Given the description of an element on the screen output the (x, y) to click on. 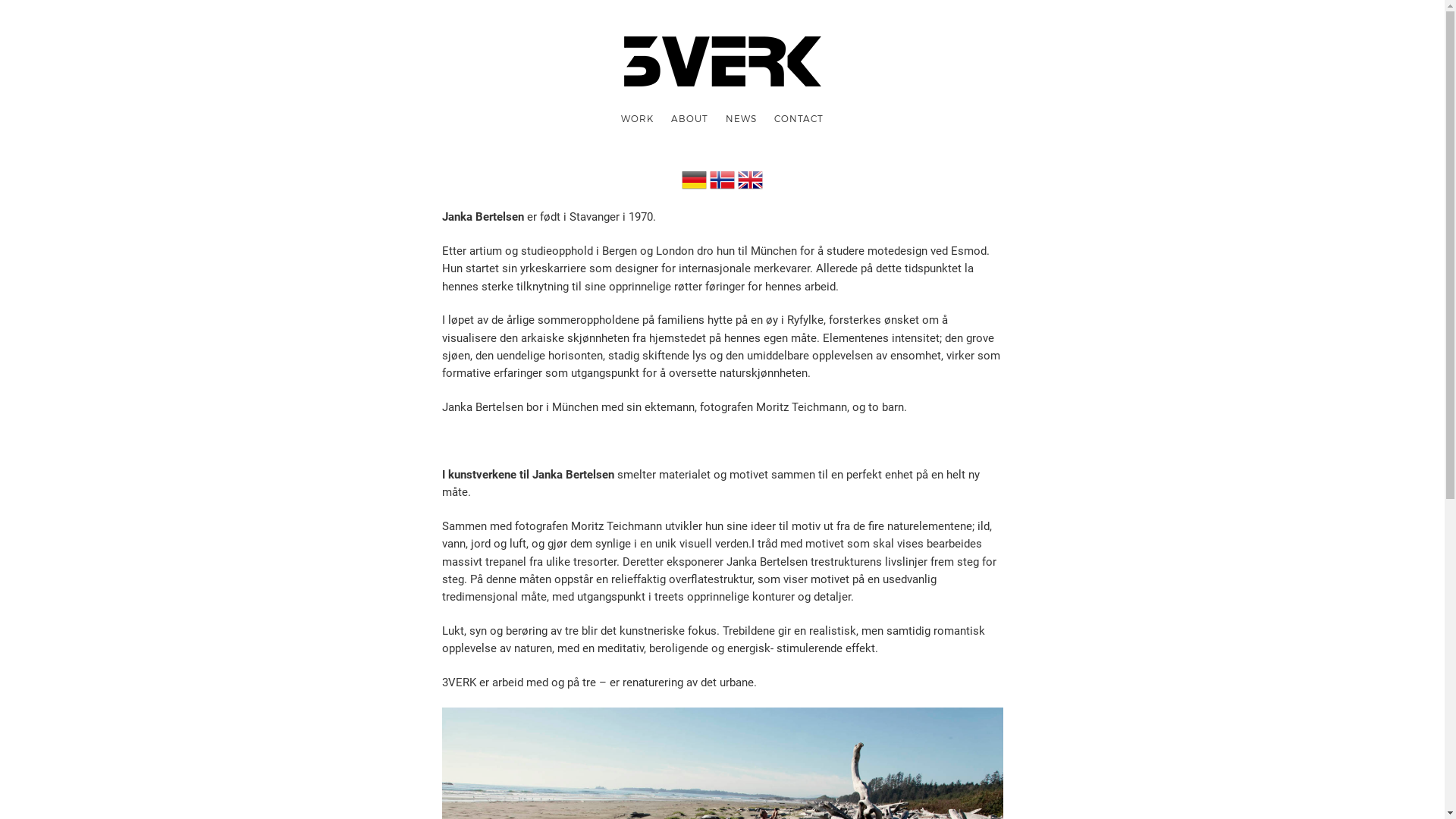
CONTACT Element type: text (799, 118)
ABOUT Element type: text (689, 118)
NEWS Element type: text (741, 118)
WORK Element type: text (636, 118)
